Given the description of an element on the screen output the (x, y) to click on. 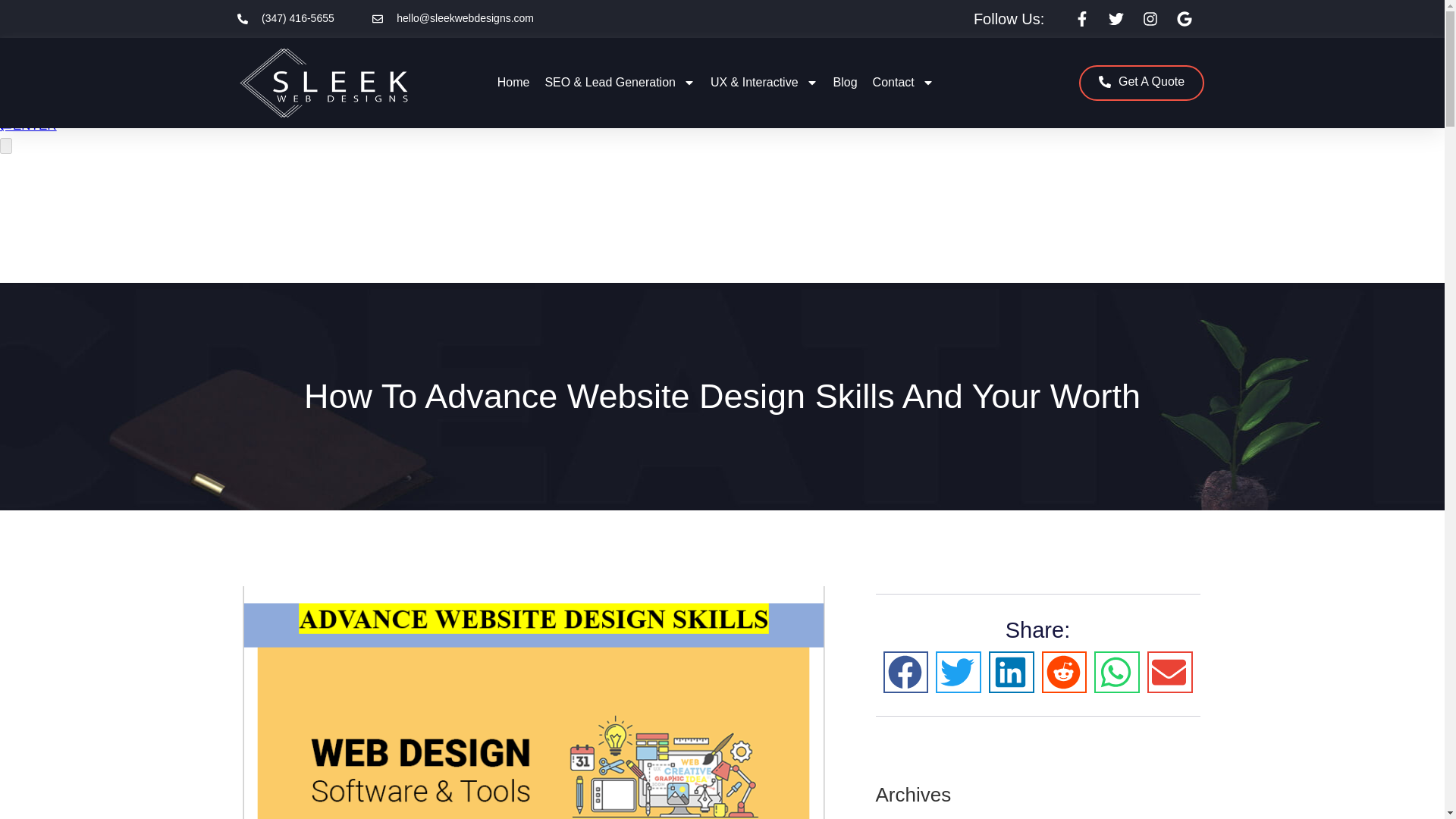
Contact (903, 82)
Home (513, 82)
Blog (844, 82)
Get A Quote (1141, 82)
